Given the description of an element on the screen output the (x, y) to click on. 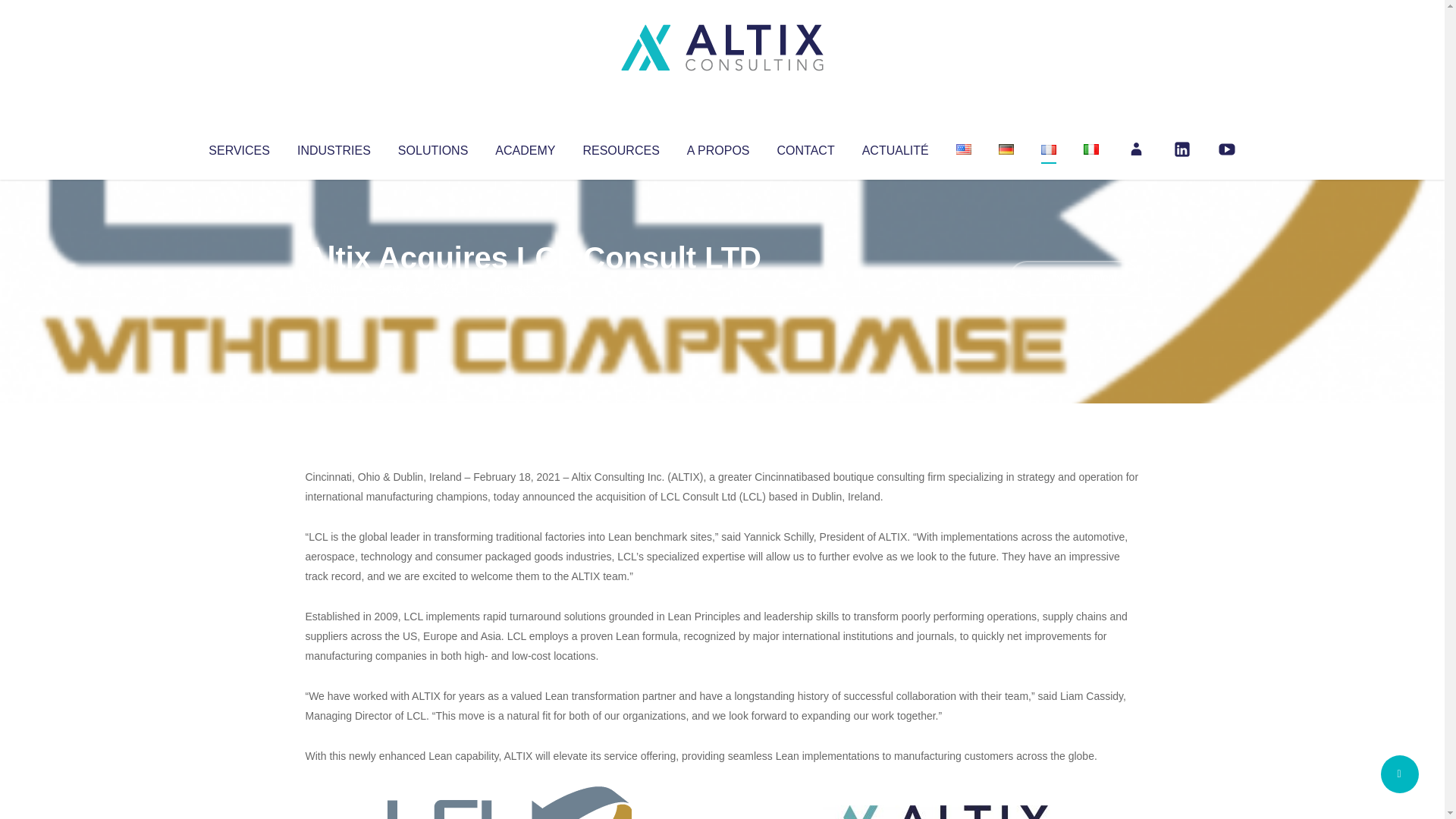
Uncategorized (530, 287)
ACADEMY (524, 146)
SERVICES (238, 146)
A PROPOS (718, 146)
INDUSTRIES (334, 146)
Articles par Altix (333, 287)
Altix (333, 287)
SOLUTIONS (432, 146)
RESOURCES (620, 146)
No Comments (1073, 278)
